Given the description of an element on the screen output the (x, y) to click on. 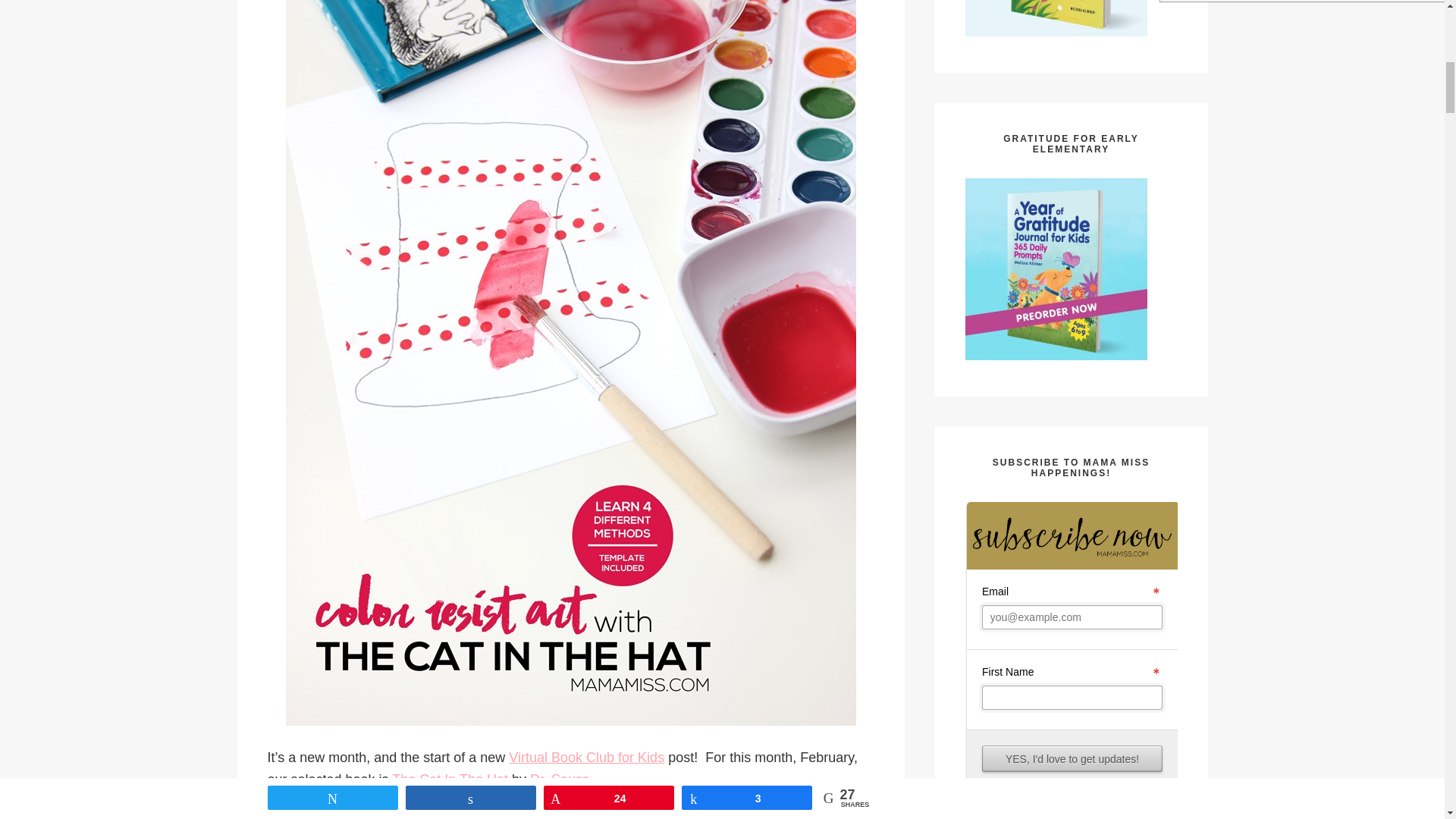
The Cat In The Hat (449, 779)
Dr. Seuss (559, 779)
Virtual Book Club for Kids (585, 757)
